Given the description of an element on the screen output the (x, y) to click on. 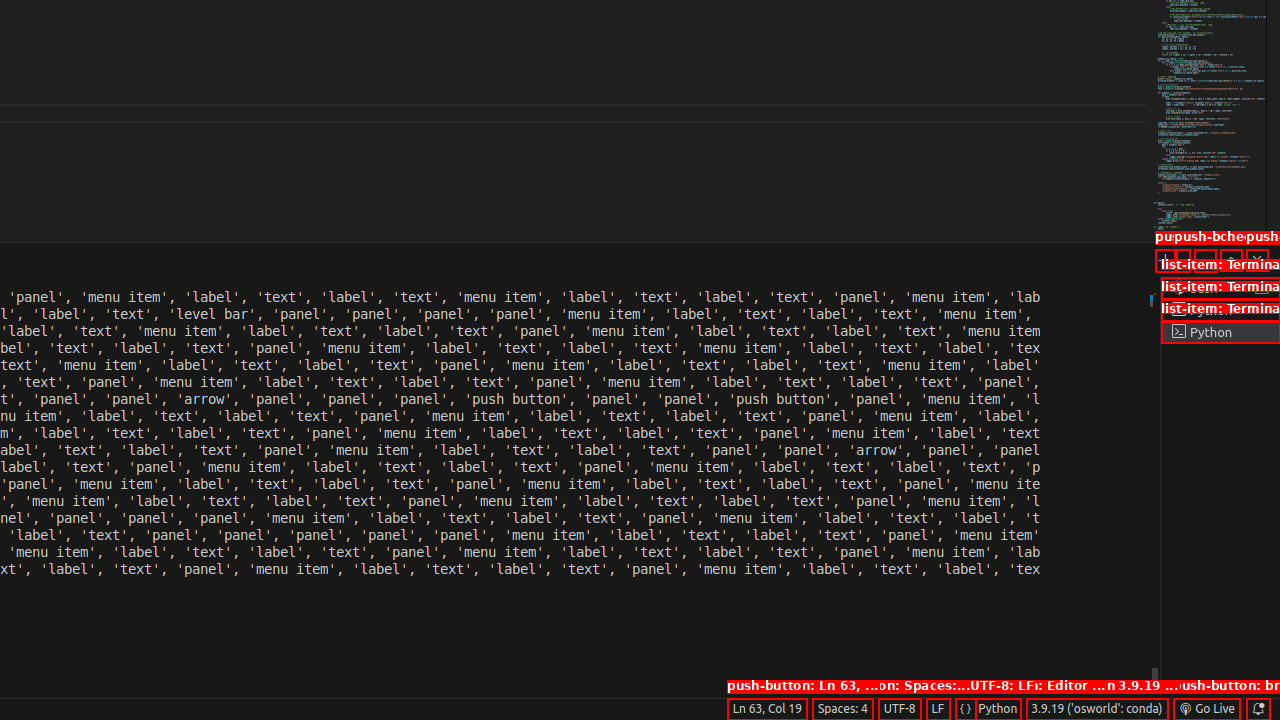
LF Element type: push-button (938, 709)
Python Element type: push-button (998, 709)
